Given the description of an element on the screen output the (x, y) to click on. 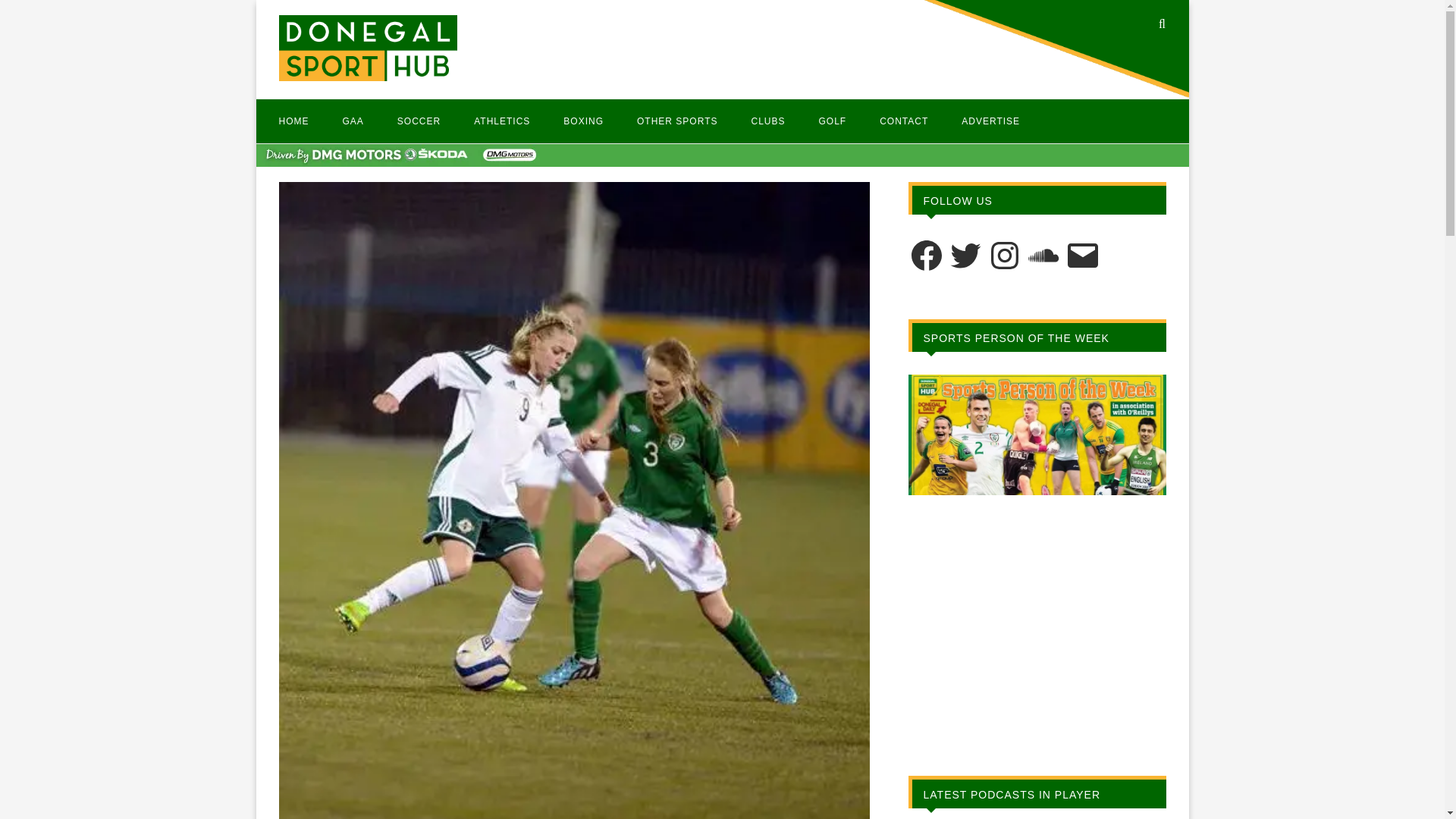
CONTACT (903, 121)
ADVERTISE (990, 121)
GOLF (831, 121)
ATHLETICS (501, 121)
GAA (353, 121)
HOME (293, 121)
OTHER SPORTS (677, 121)
SOCCER (419, 121)
CLUBS (767, 121)
BOXING (583, 121)
